Given the description of an element on the screen output the (x, y) to click on. 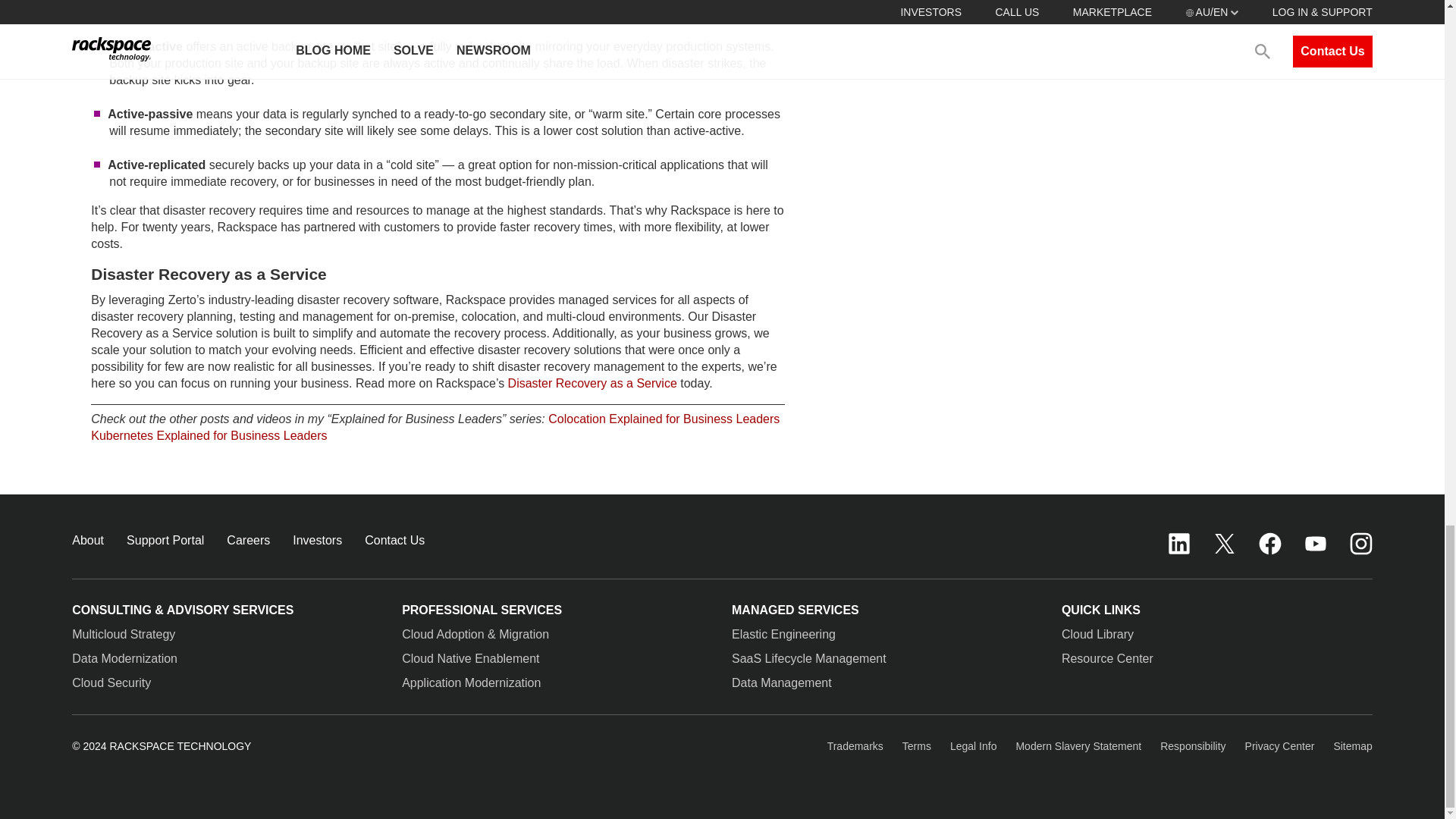
Disaster Recovery as a Service (592, 382)
Kubernetes Explained for Business Leaders (208, 435)
Colocation Explained for Business Leaders (663, 418)
